Given the description of an element on the screen output the (x, y) to click on. 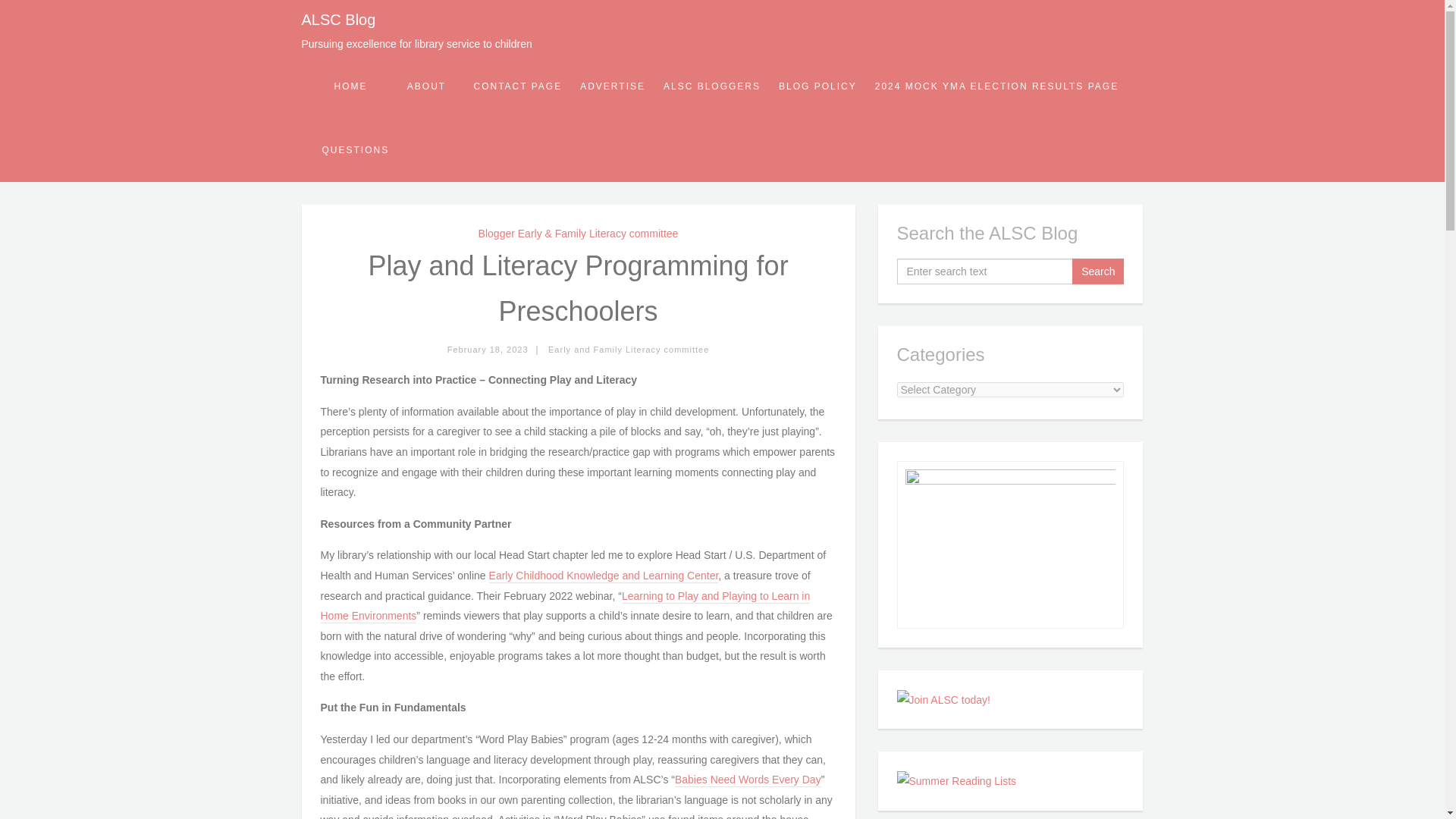
Search (1097, 271)
About (426, 85)
QUESTIONS (355, 149)
Babies Need Words Every Day (748, 780)
Learning to Play and Playing to Learn in Home Environments (564, 606)
Blog Policy (818, 85)
ALSC Bloggers (711, 85)
CONTACT PAGE (517, 85)
Home (350, 85)
ABOUT (426, 85)
